Given the description of an element on the screen output the (x, y) to click on. 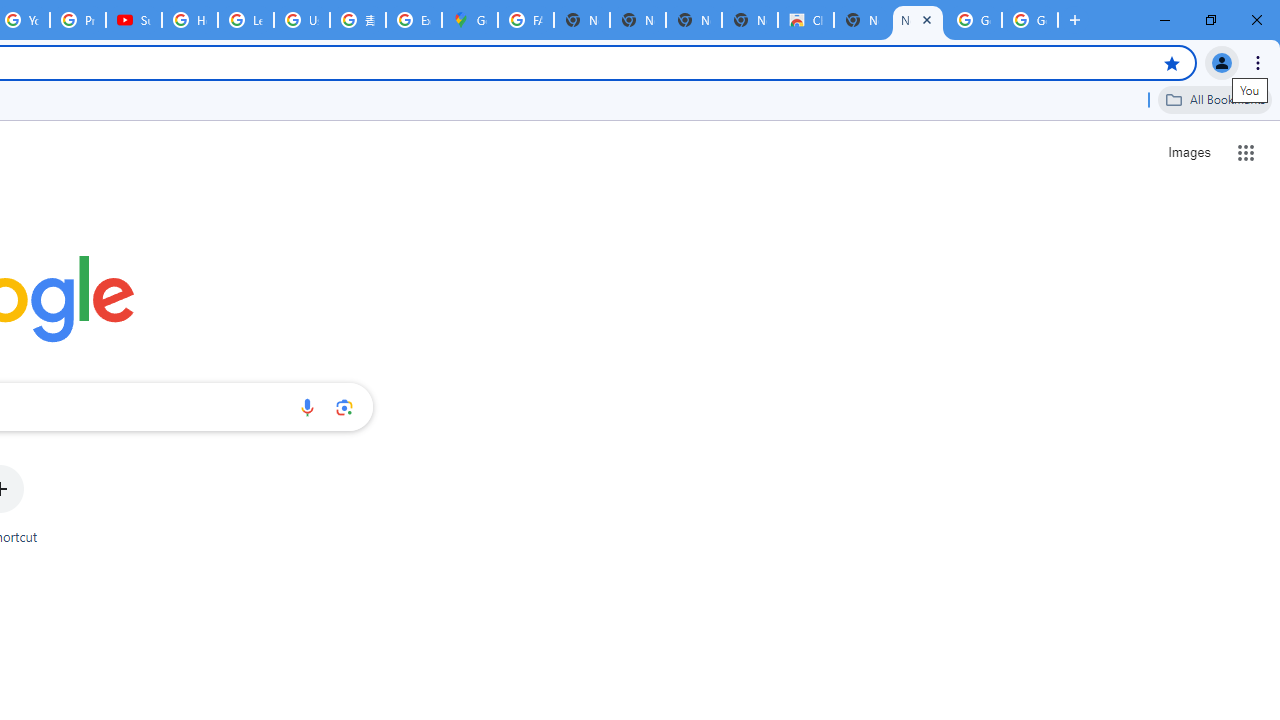
Google Maps (469, 20)
New Tab (917, 20)
Explore new street-level details - Google Maps Help (413, 20)
